Given the description of an element on the screen output the (x, y) to click on. 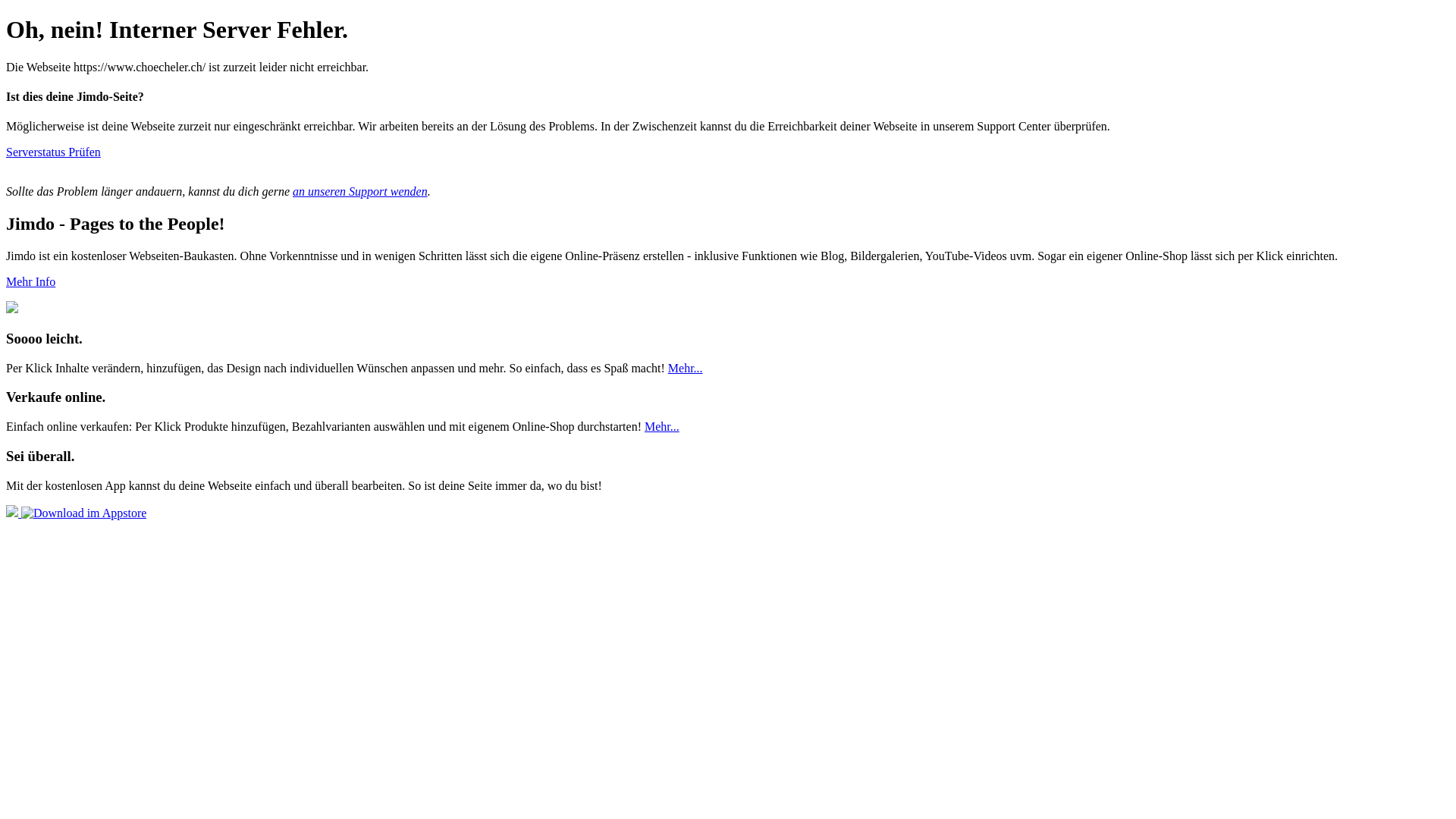
Mehr... Element type: text (661, 426)
Mehr... Element type: text (685, 367)
Mehr Info Element type: text (30, 281)
an unseren Support wenden Element type: text (359, 191)
